Given the description of an element on the screen output the (x, y) to click on. 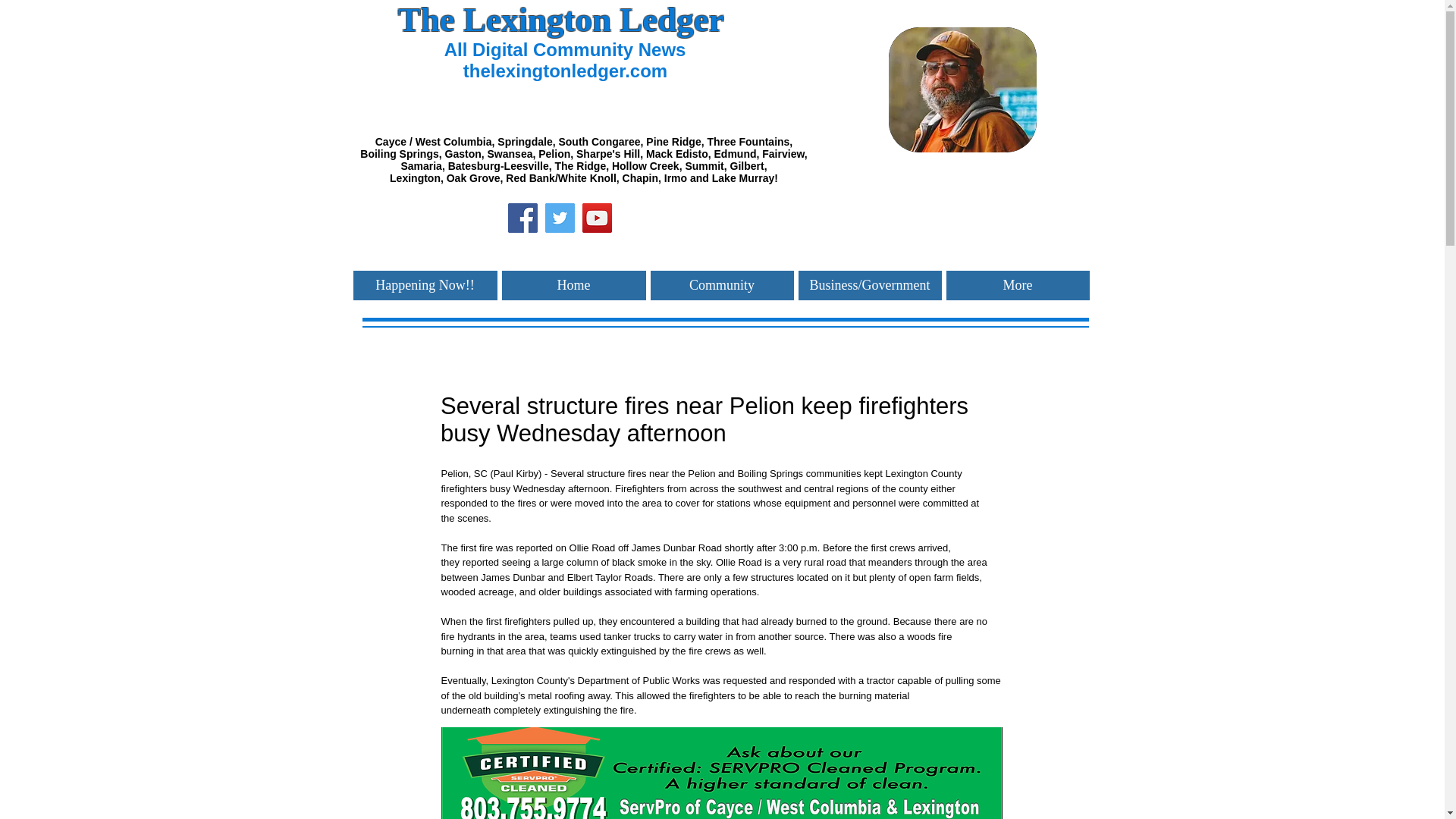
Home (574, 285)
Community (721, 285)
Happening Now!! (425, 285)
